Given the description of an element on the screen output the (x, y) to click on. 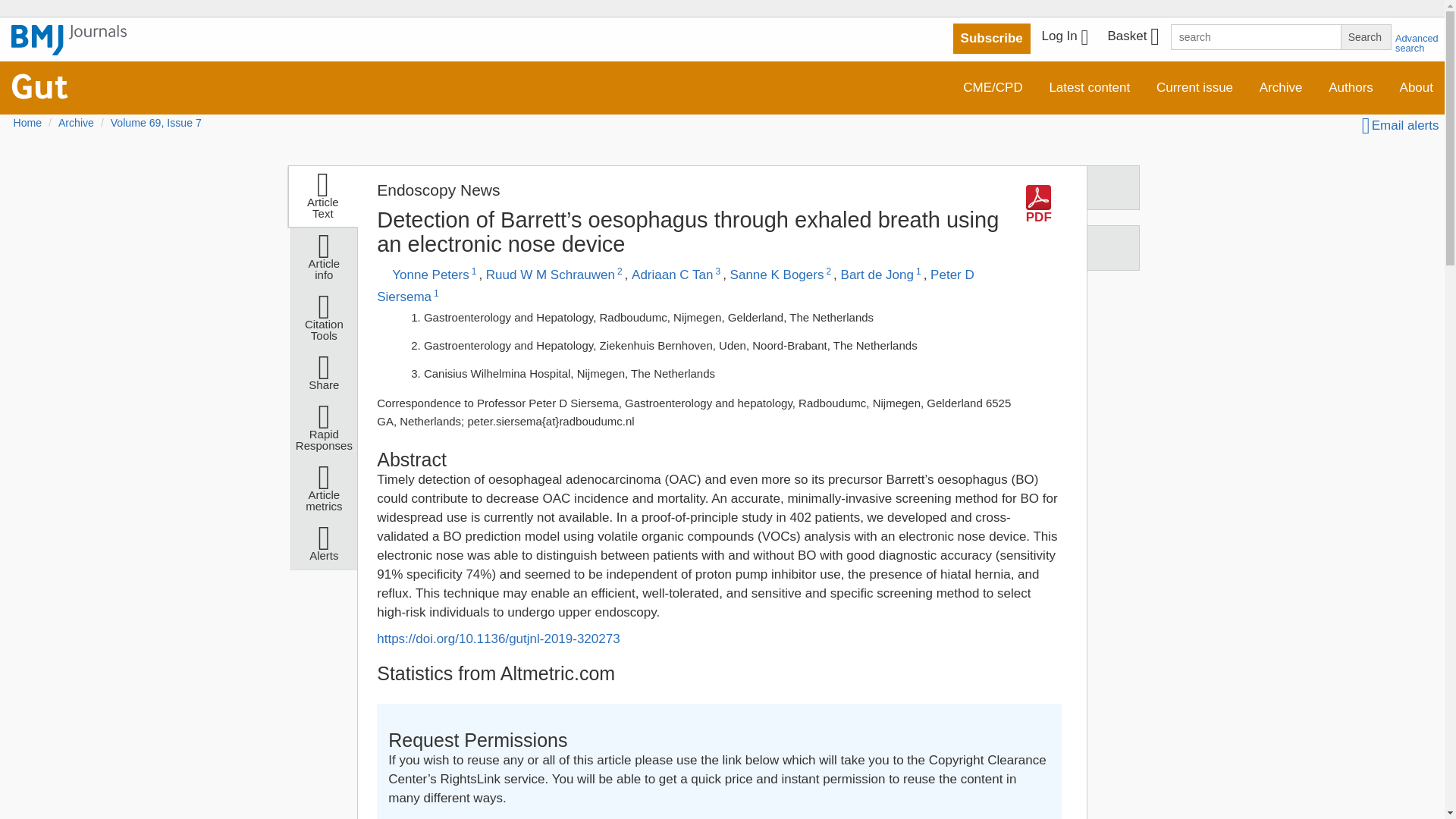
Current issue (1194, 87)
Log In (1064, 38)
Search (1364, 36)
Archive (1280, 87)
Latest content (1088, 87)
BMJ Journals (68, 40)
Subscribe (991, 38)
BMJ Journals (68, 47)
Advanced search (1416, 43)
Search (1364, 36)
